Given the description of an element on the screen output the (x, y) to click on. 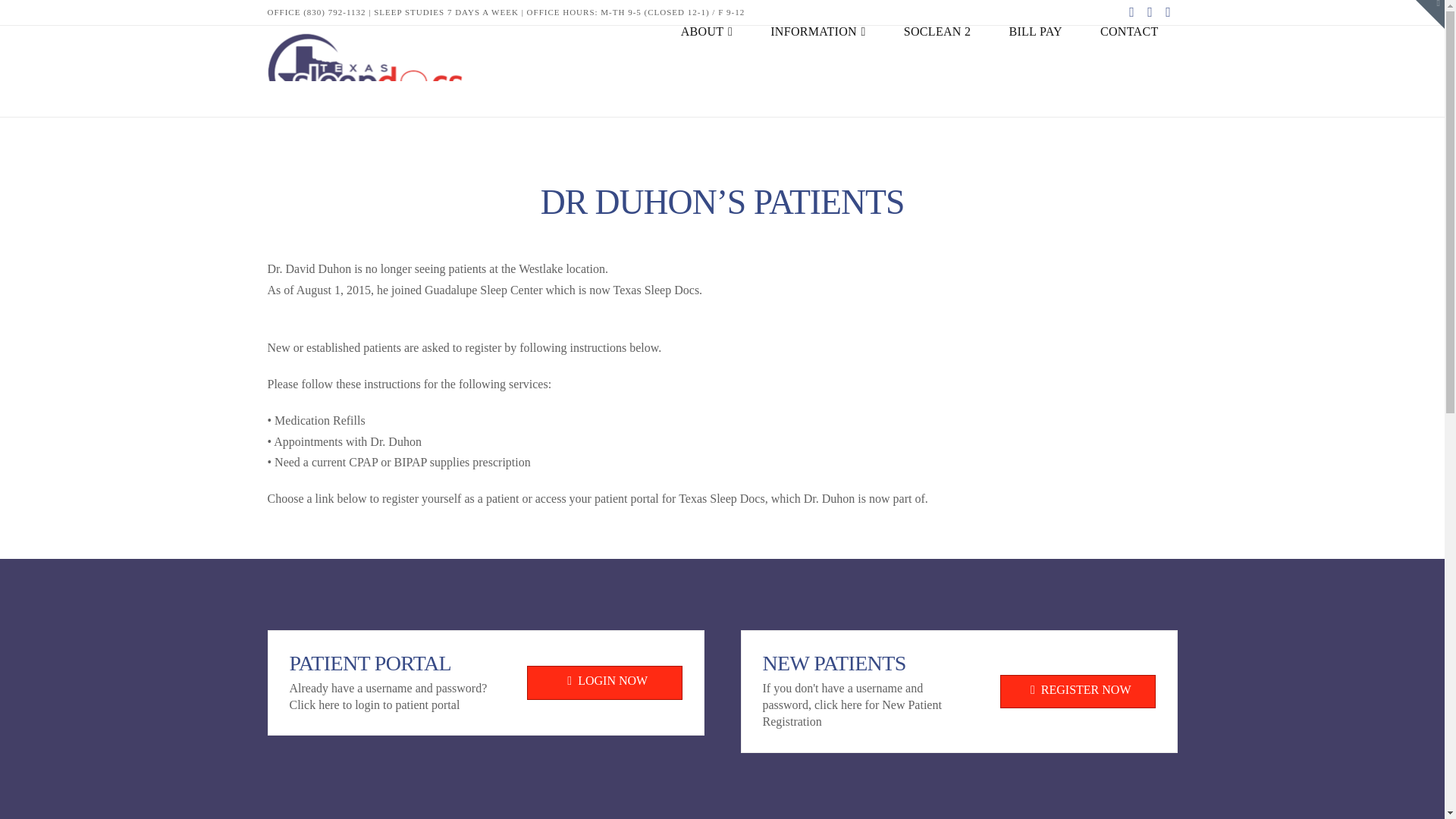
ABOUT (706, 71)
BILL PAY (1035, 71)
INFORMATION (818, 71)
Register Now (1077, 691)
LinkedIn (1167, 12)
Login Now (604, 682)
Facebook (1131, 12)
SOCLEAN 2 (937, 71)
LOGIN NOW (604, 682)
REGISTER NOW (1077, 691)
CONTACT (1129, 71)
